Given the description of an element on the screen output the (x, y) to click on. 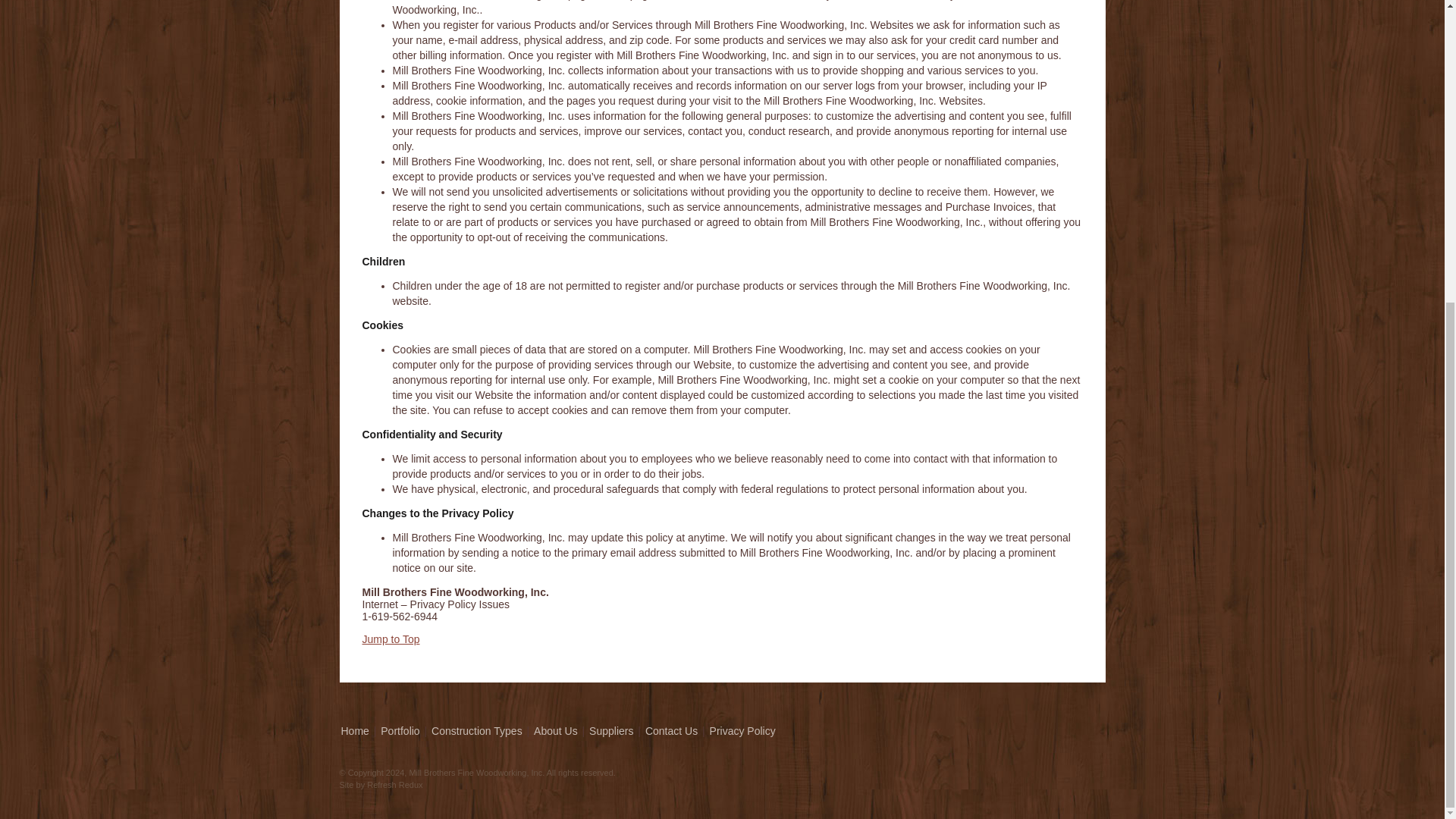
Contact Us (671, 730)
Refresh Redux (394, 784)
Jump to Top (391, 639)
Refresh Redux (394, 784)
Home (354, 730)
Construction Types (476, 730)
Portfolio (399, 730)
Privacy Policy (743, 730)
Suppliers (611, 730)
About Us (556, 730)
